Given the description of an element on the screen output the (x, y) to click on. 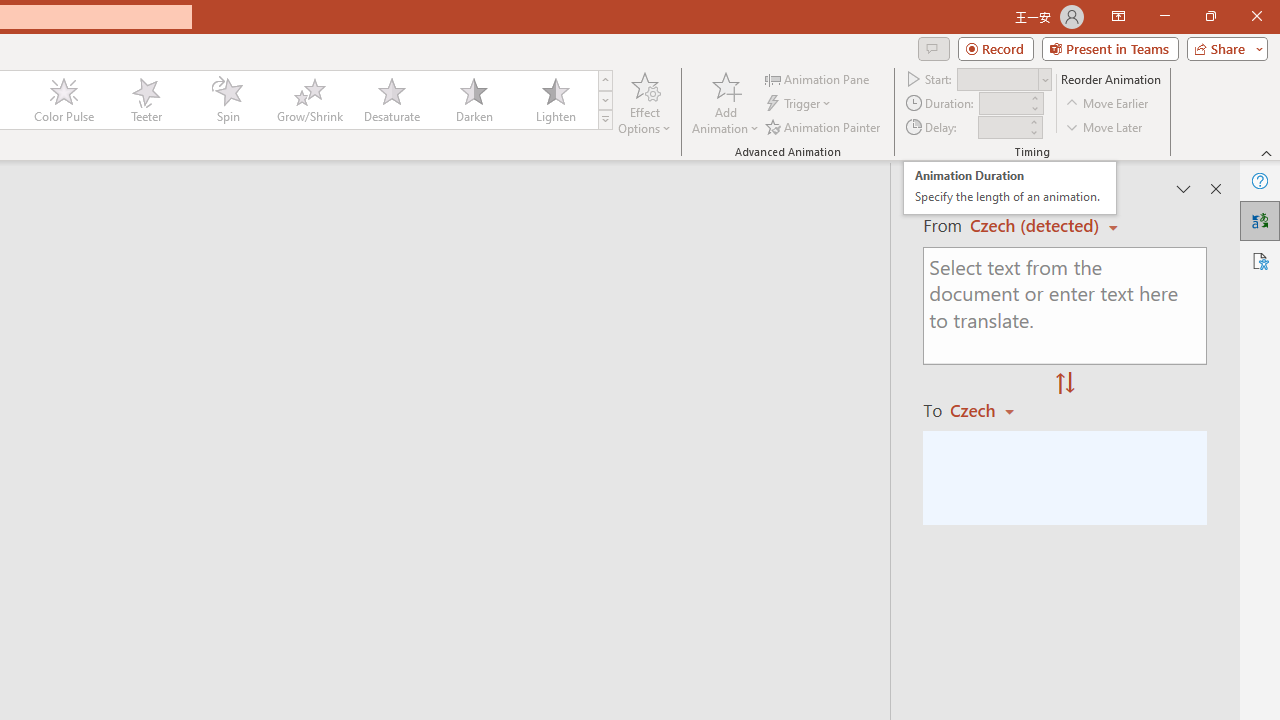
Animation Delay (1002, 127)
